Given the description of an element on the screen output the (x, y) to click on. 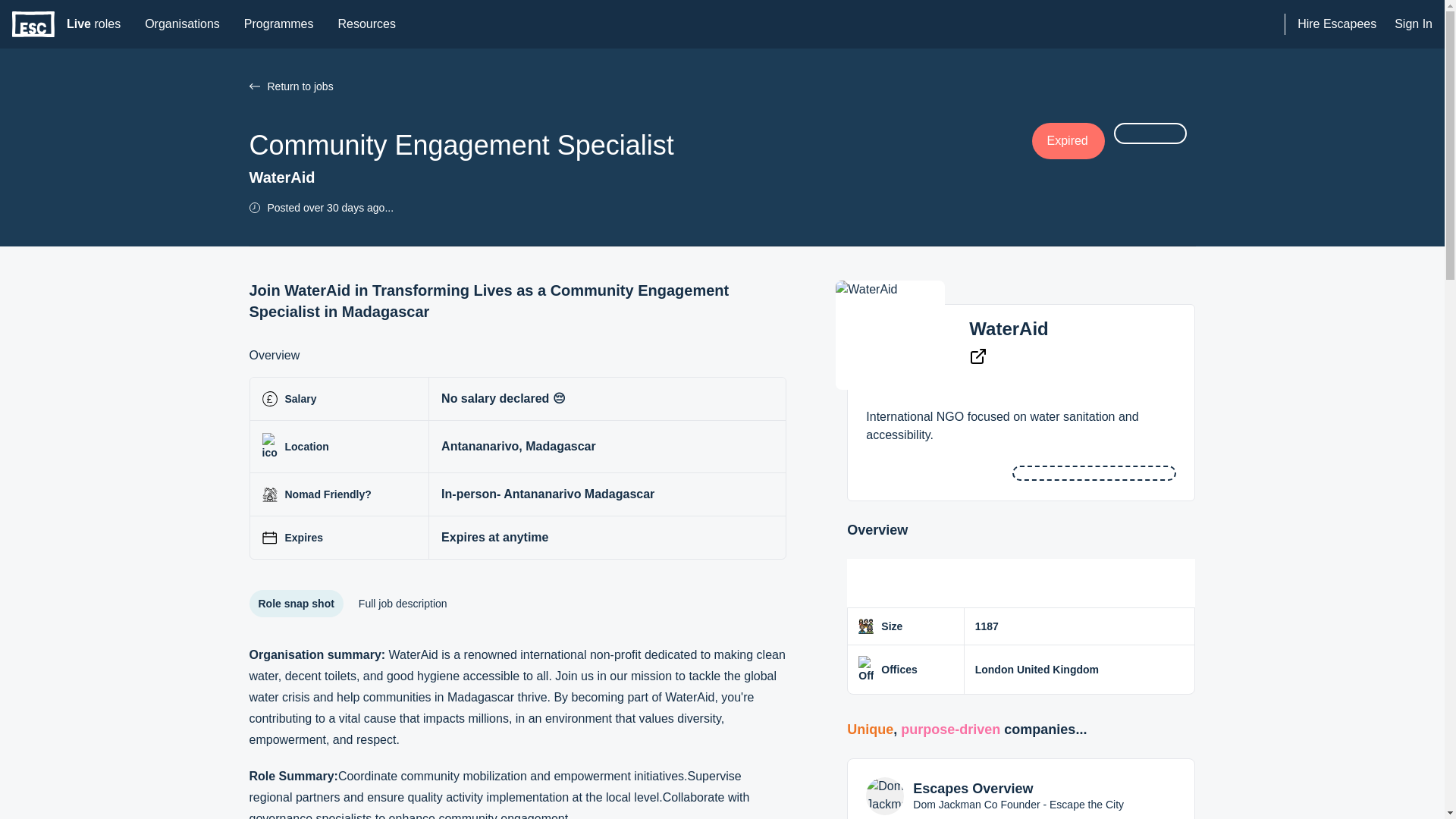
Return to jobs (639, 86)
Resources (365, 24)
WaterAid (93, 24)
Organisations (1008, 328)
Return to jobs (181, 24)
Programmes (253, 86)
Hire Escapees (278, 24)
Escape the City (1336, 24)
